Given the description of an element on the screen output the (x, y) to click on. 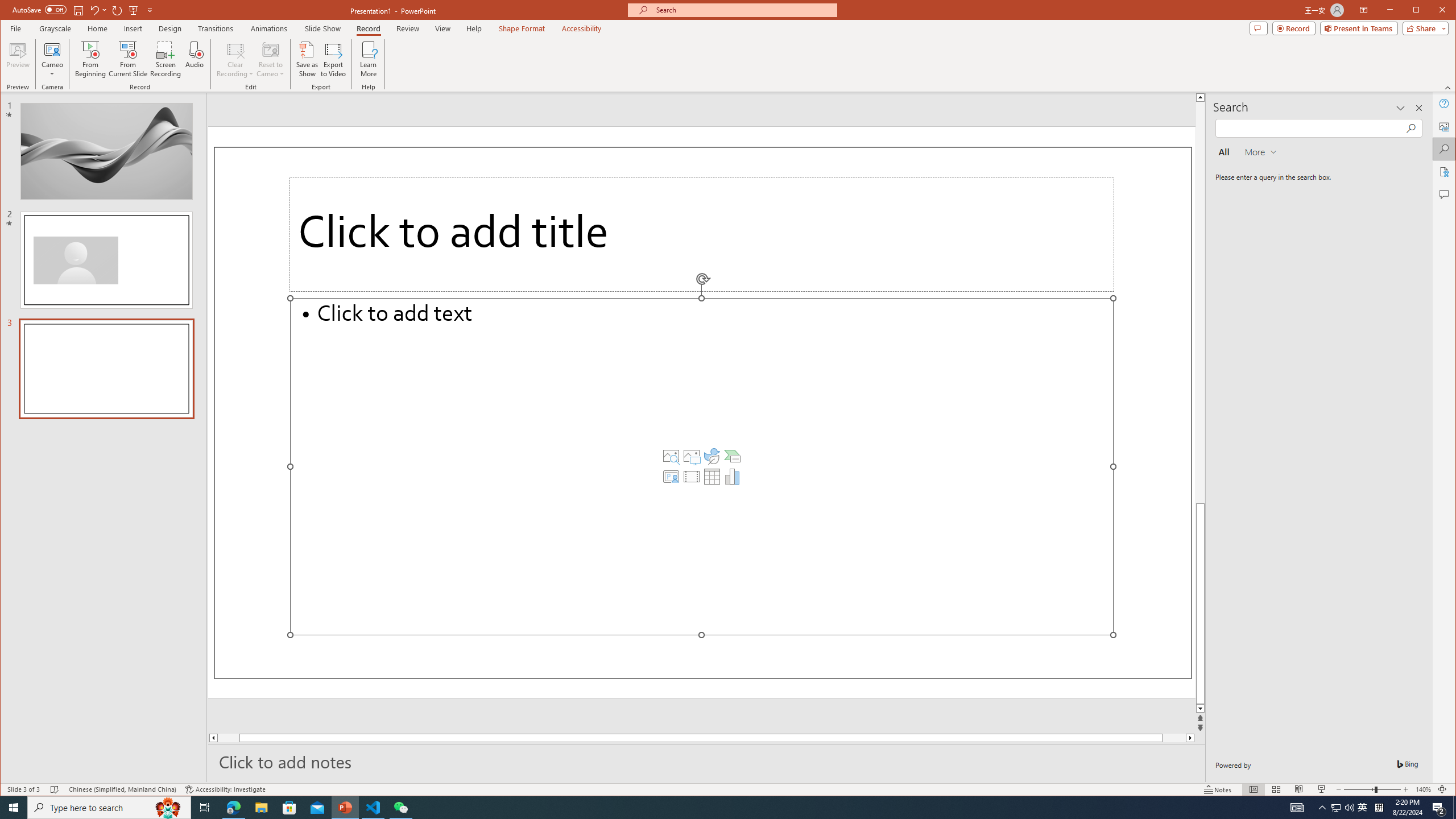
Insert Chart (732, 476)
Save as Show (307, 59)
Slide Sorter (1276, 789)
Content Placeholder (701, 466)
Notification Chevron (1322, 807)
Title TextBox (701, 233)
Close pane (1418, 107)
Microsoft search (742, 10)
From Beginning (133, 9)
Microsoft Edge - 1 running window (233, 807)
More Options (52, 69)
Close (1444, 11)
Save (77, 9)
Page down (1162, 737)
